Given the description of an element on the screen output the (x, y) to click on. 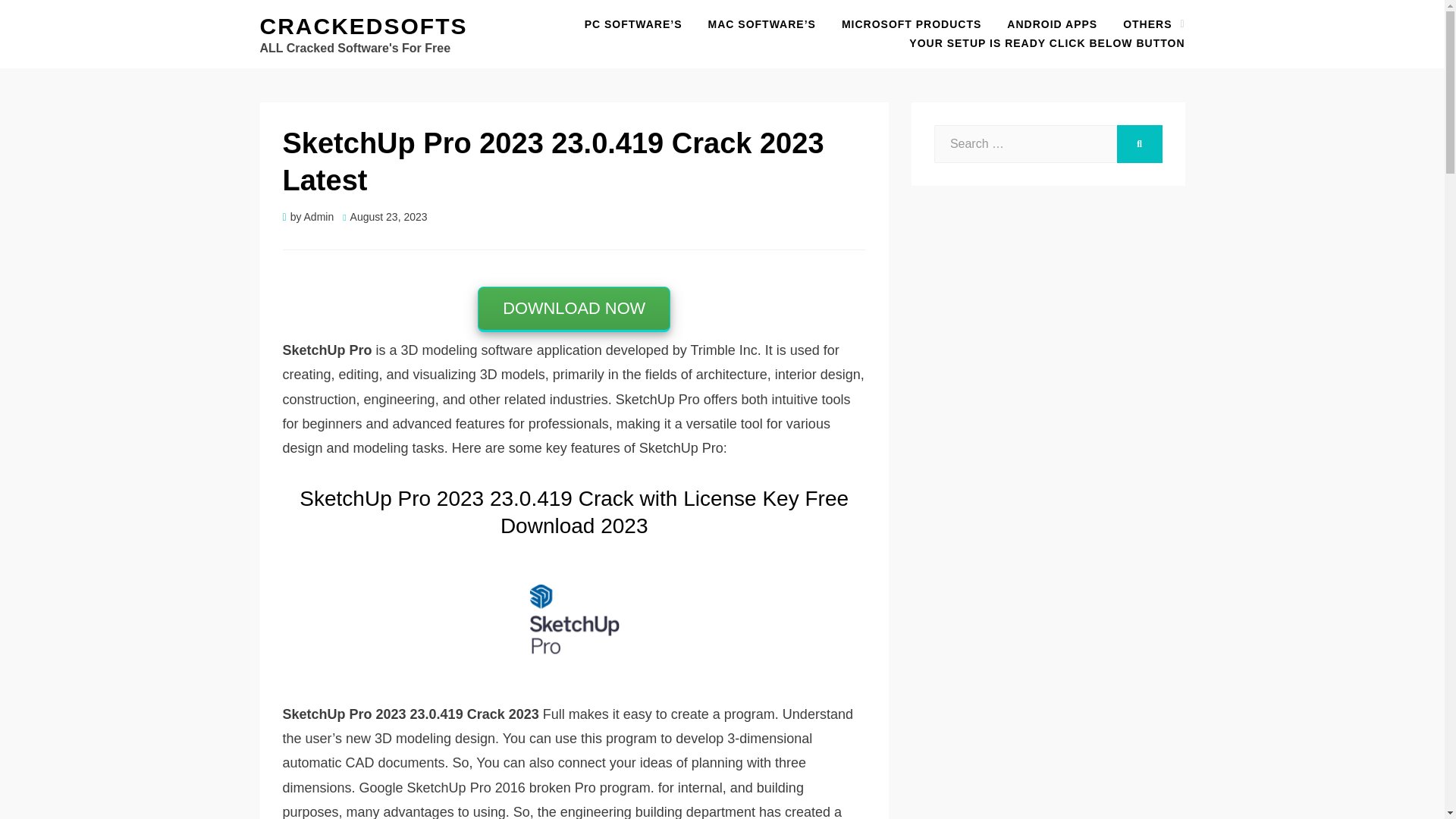
DOWNLOAD NOW (573, 309)
DOWNLOAD NOW (573, 309)
ANDROID APPS (1051, 24)
August 23, 2023 (384, 216)
MICROSOFT PRODUCTS (911, 24)
CRACKEDSOFTS (363, 25)
Search for: (1025, 143)
OTHERS (1147, 24)
CrackeDSofts (363, 25)
YOUR SETUP IS READY CLICK BELOW BUTTON (1040, 43)
Admin (319, 216)
